Given the description of an element on the screen output the (x, y) to click on. 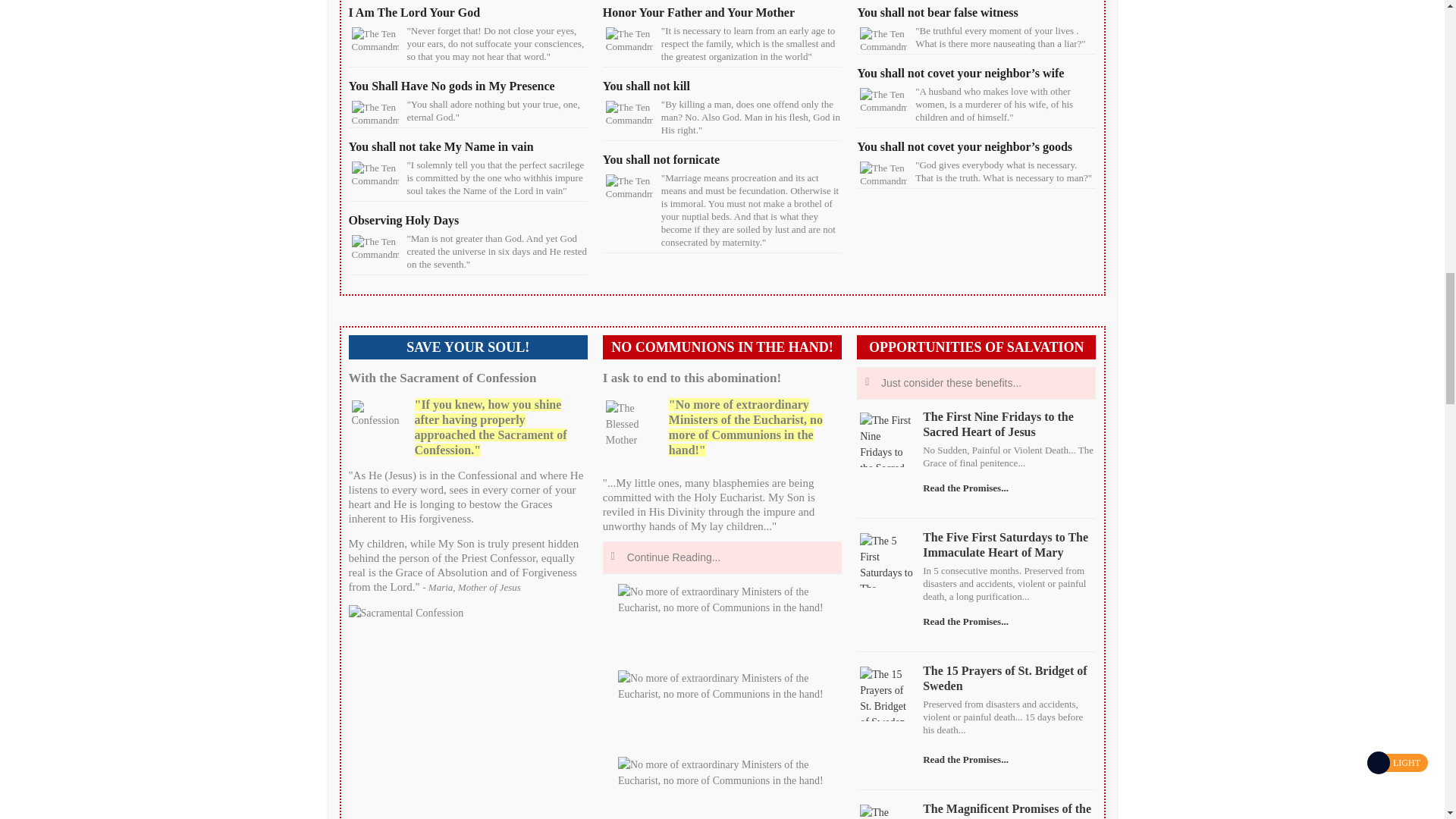
I Am The Lord Your God (414, 11)
You shall not take My Name in vain (441, 146)
You Shall Have No gods in My Presence (451, 85)
